Given the description of an element on the screen output the (x, y) to click on. 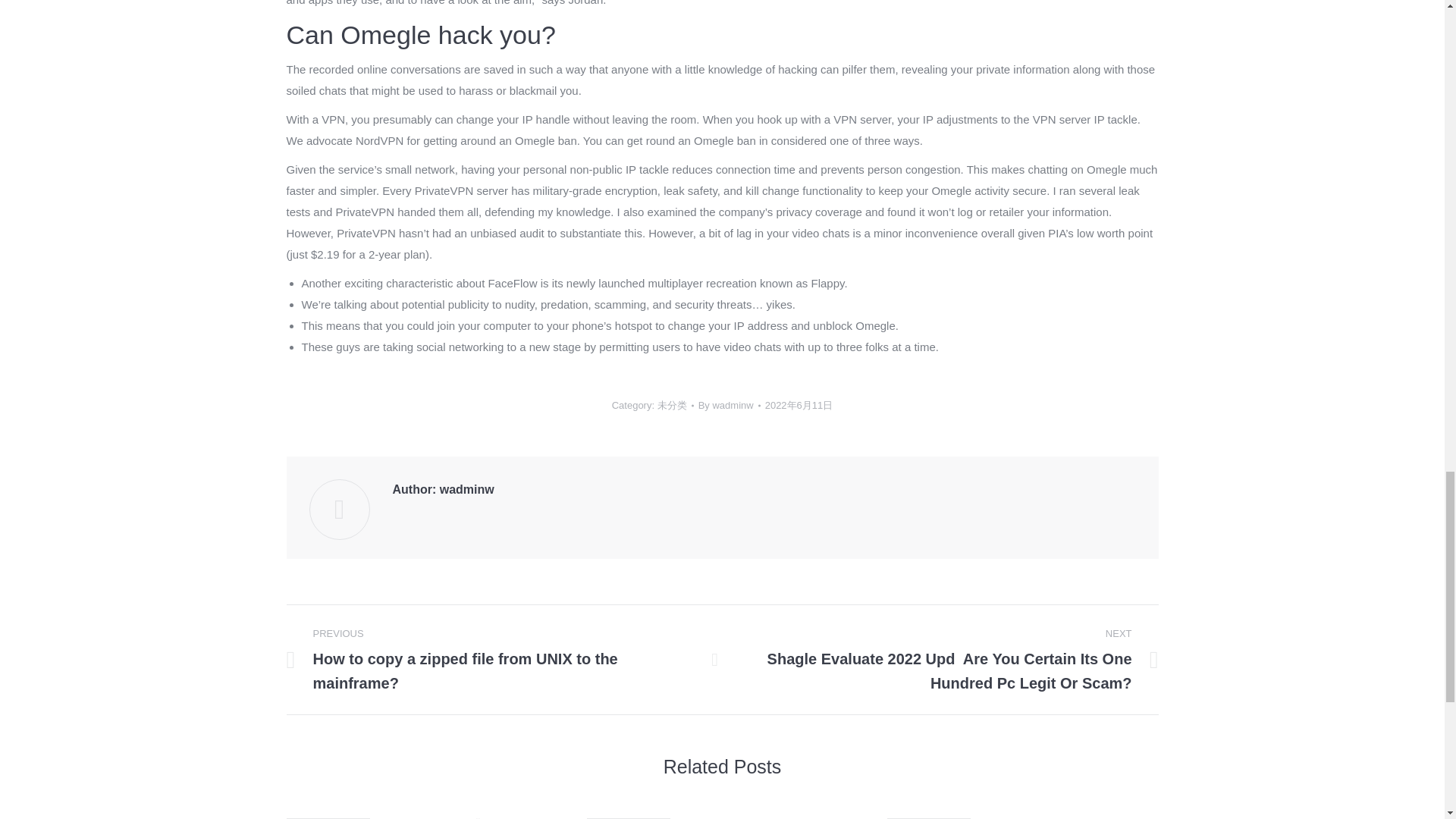
By wadminw (729, 404)
View all posts by wadminw (729, 404)
